Given the description of an element on the screen output the (x, y) to click on. 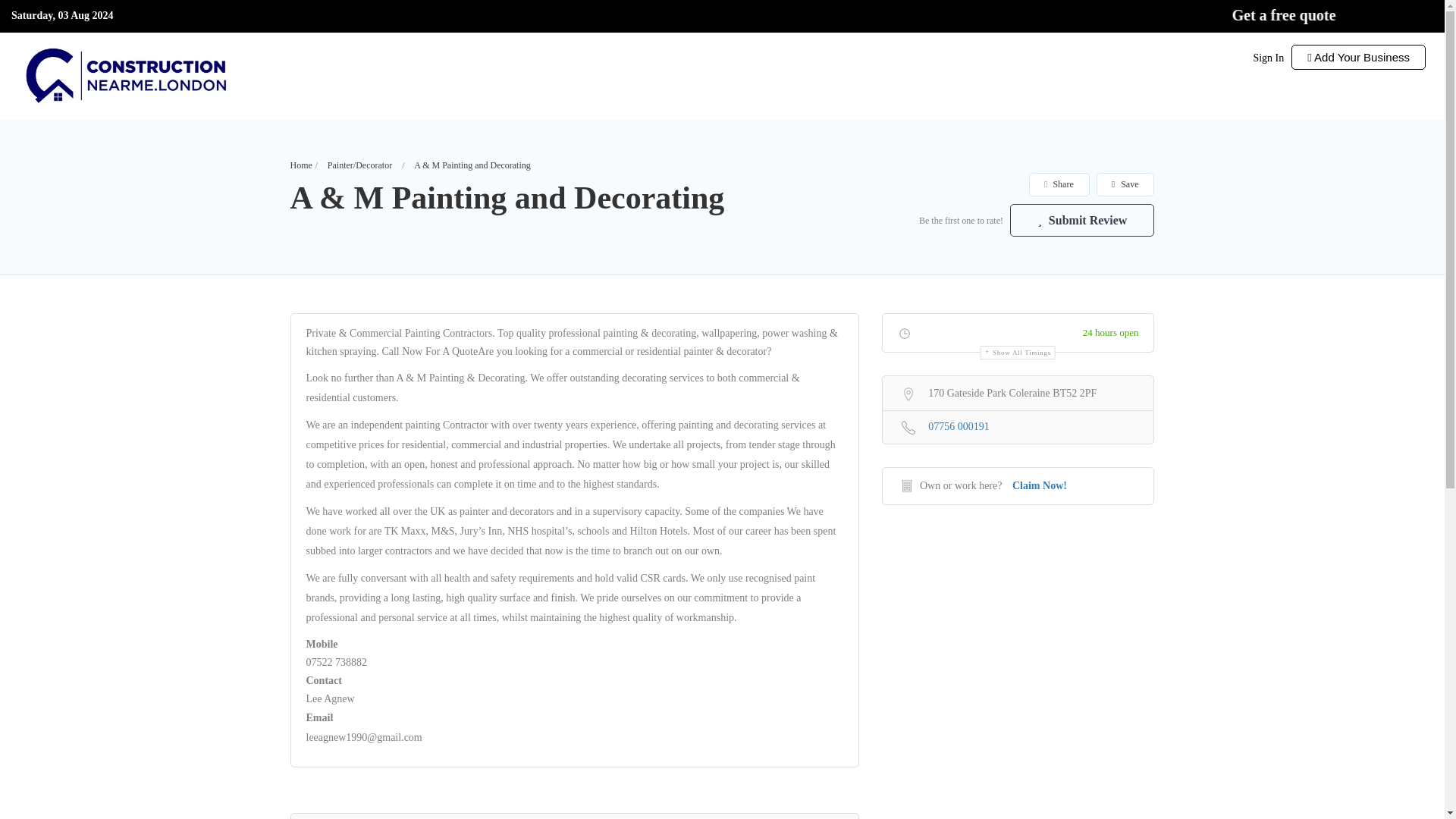
Add Your Business (1358, 57)
Sign In (1268, 57)
Home (300, 164)
Save (1125, 184)
Submit (413, 502)
